Given the description of an element on the screen output the (x, y) to click on. 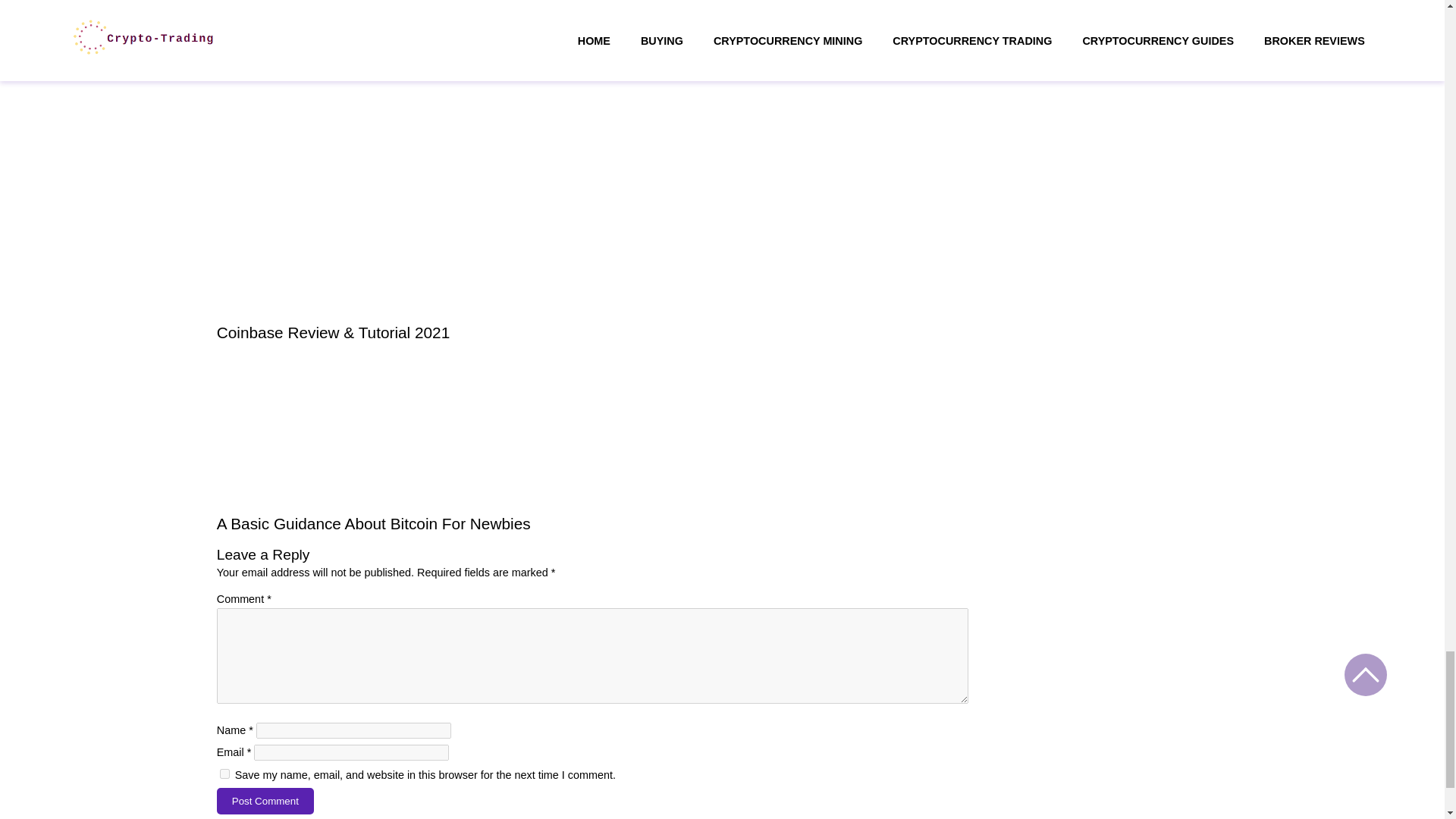
yes (224, 773)
Post Comment (265, 800)
Post Comment (265, 800)
A Basic Guidance About Bitcoin For Newbies (373, 523)
